Given the description of an element on the screen output the (x, y) to click on. 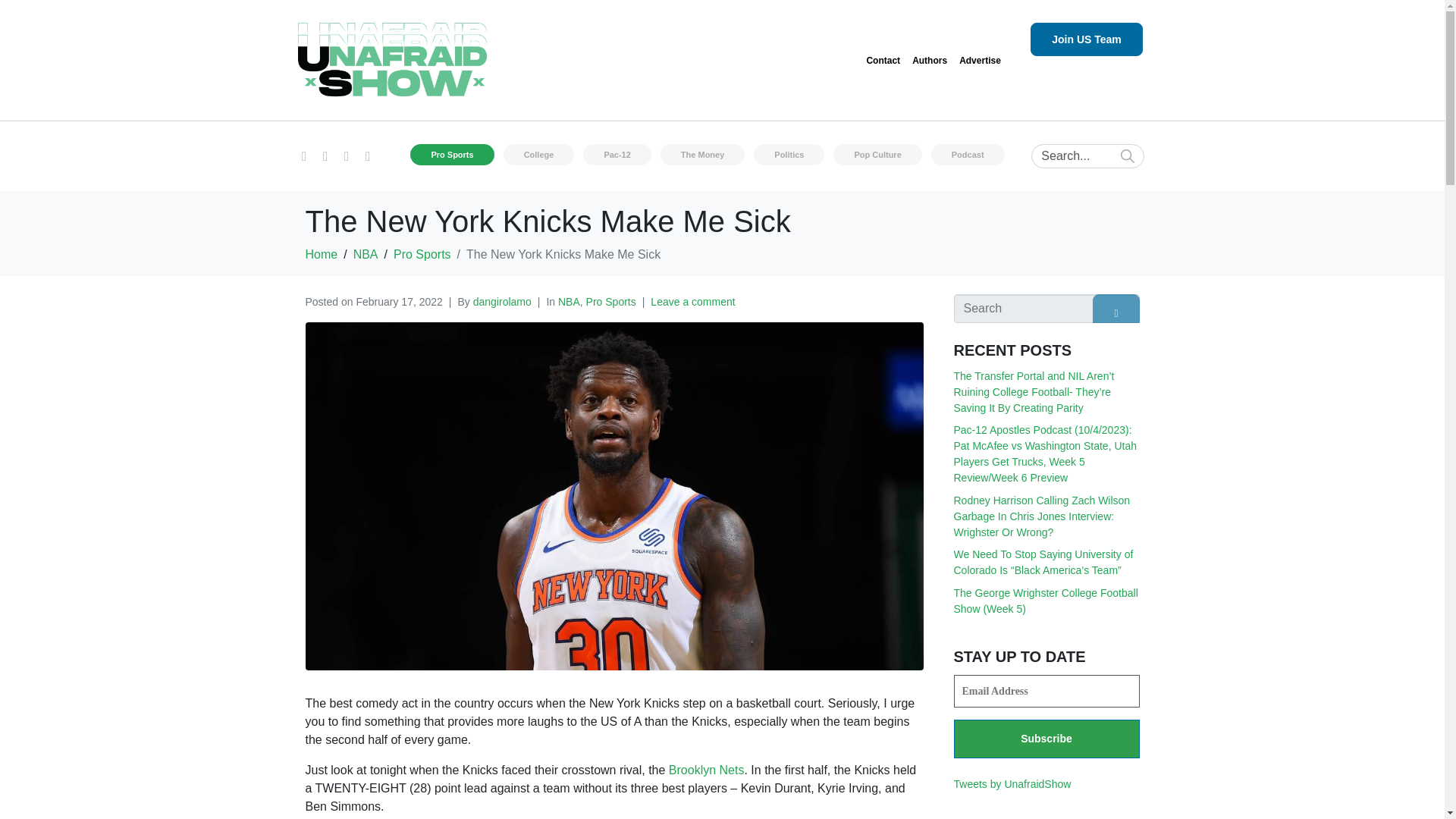
The Money (702, 154)
dangirolamo (502, 301)
Pro Sports (451, 154)
Home (320, 254)
Subscribe (1046, 738)
Pro Sports (422, 254)
Advertise (980, 60)
Contact (882, 60)
Podcast (967, 154)
Pro Sports (611, 301)
Authors (929, 60)
Join US Team (1086, 39)
NBA (365, 254)
Pop Culture (876, 154)
Politics (789, 154)
